Given the description of an element on the screen output the (x, y) to click on. 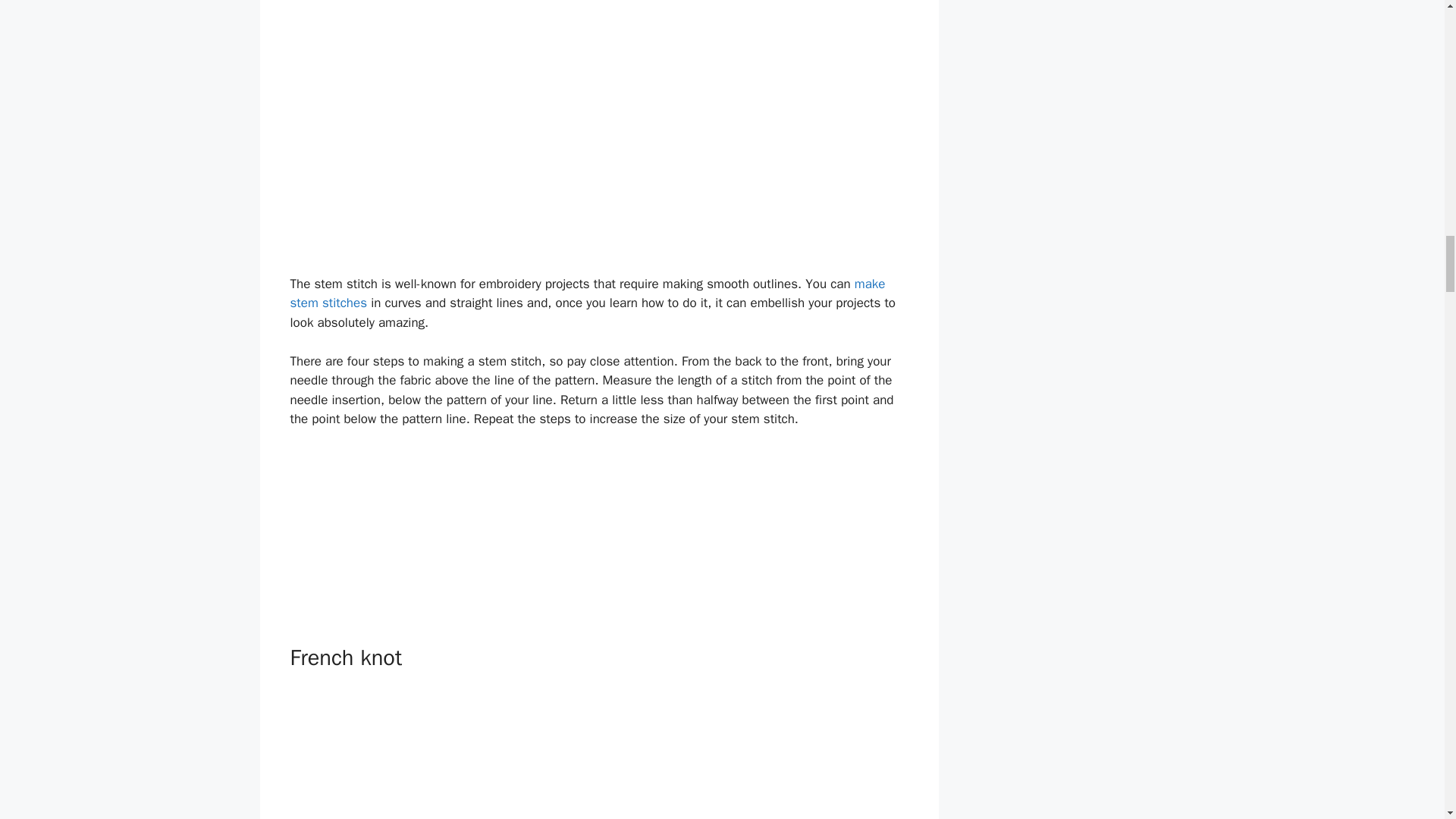
make stem stitches (587, 294)
